Given the description of an element on the screen output the (x, y) to click on. 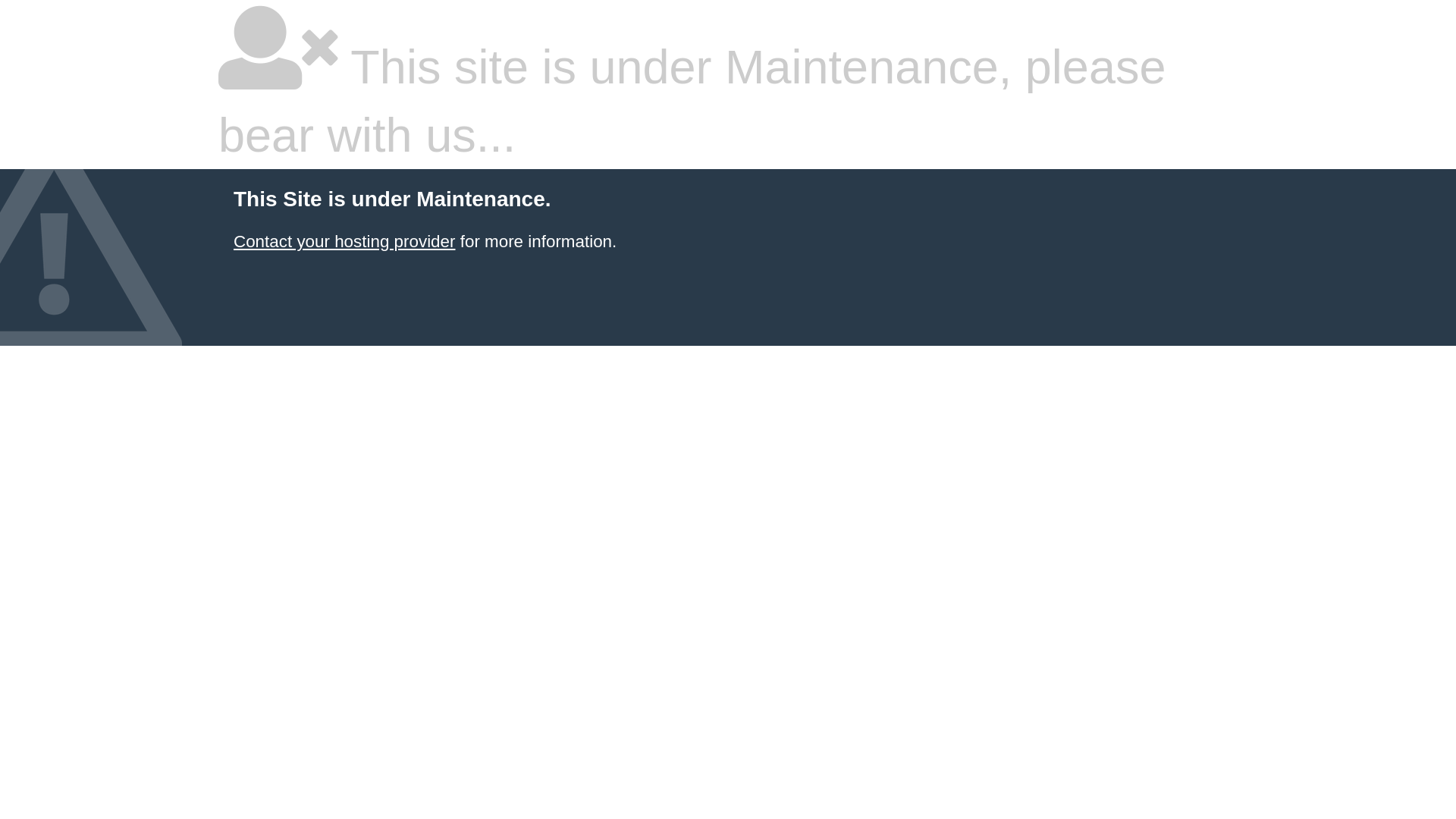
Contact your hosting provider Element type: text (344, 241)
